Given the description of an element on the screen output the (x, y) to click on. 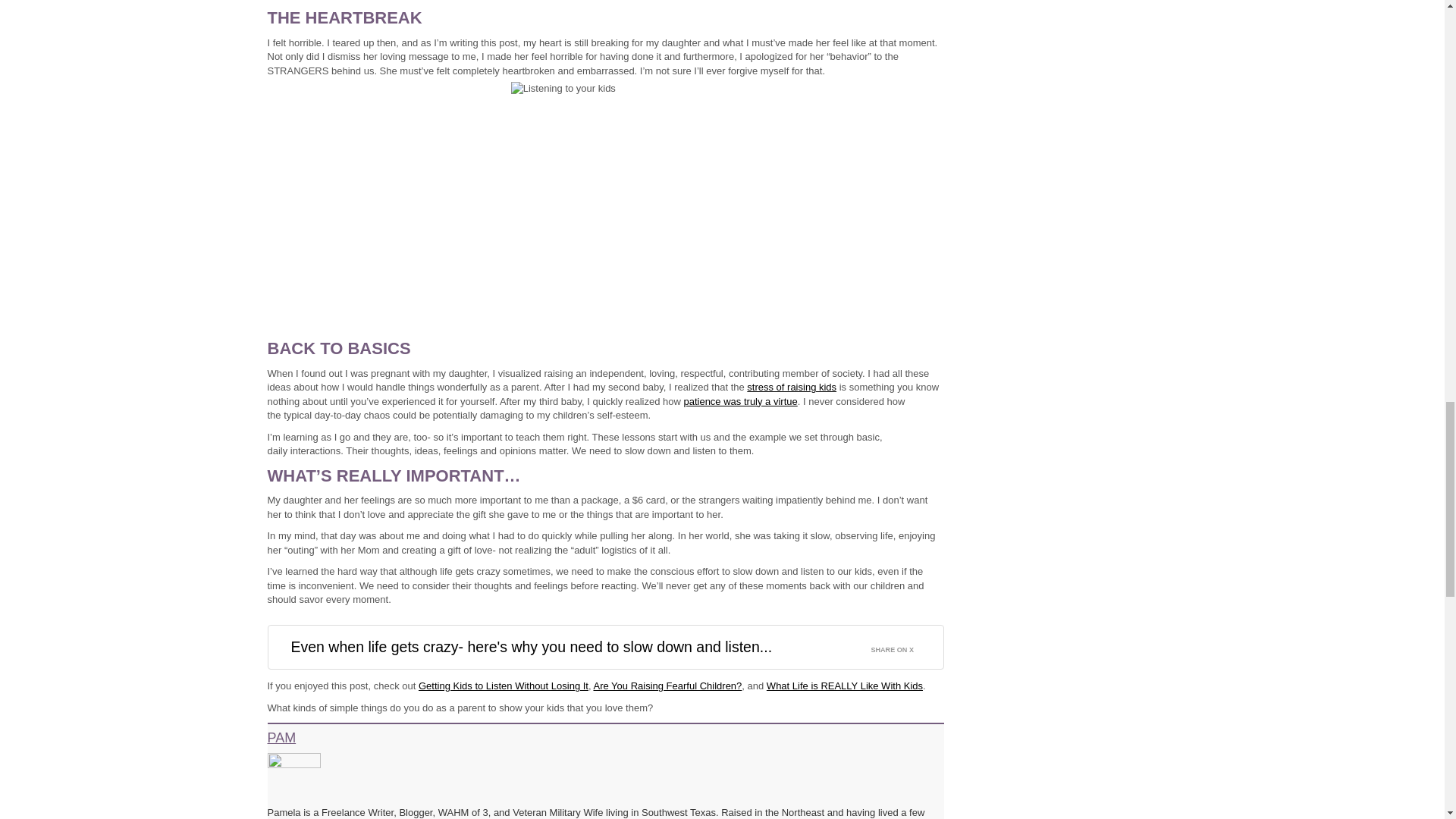
All posts by Pam (288, 738)
stress of raising kids (790, 387)
PAM (288, 738)
CoSchedule: The Editorial Calendar For WordPress (1071, 182)
SHARE ON X (900, 646)
Are You Raising Fearful Children? (666, 685)
Getting Kids to Listen Without Losing It (503, 685)
patience was truly a virtue (739, 401)
What Life is REALLY Like With Kids (845, 685)
